Given the description of an element on the screen output the (x, y) to click on. 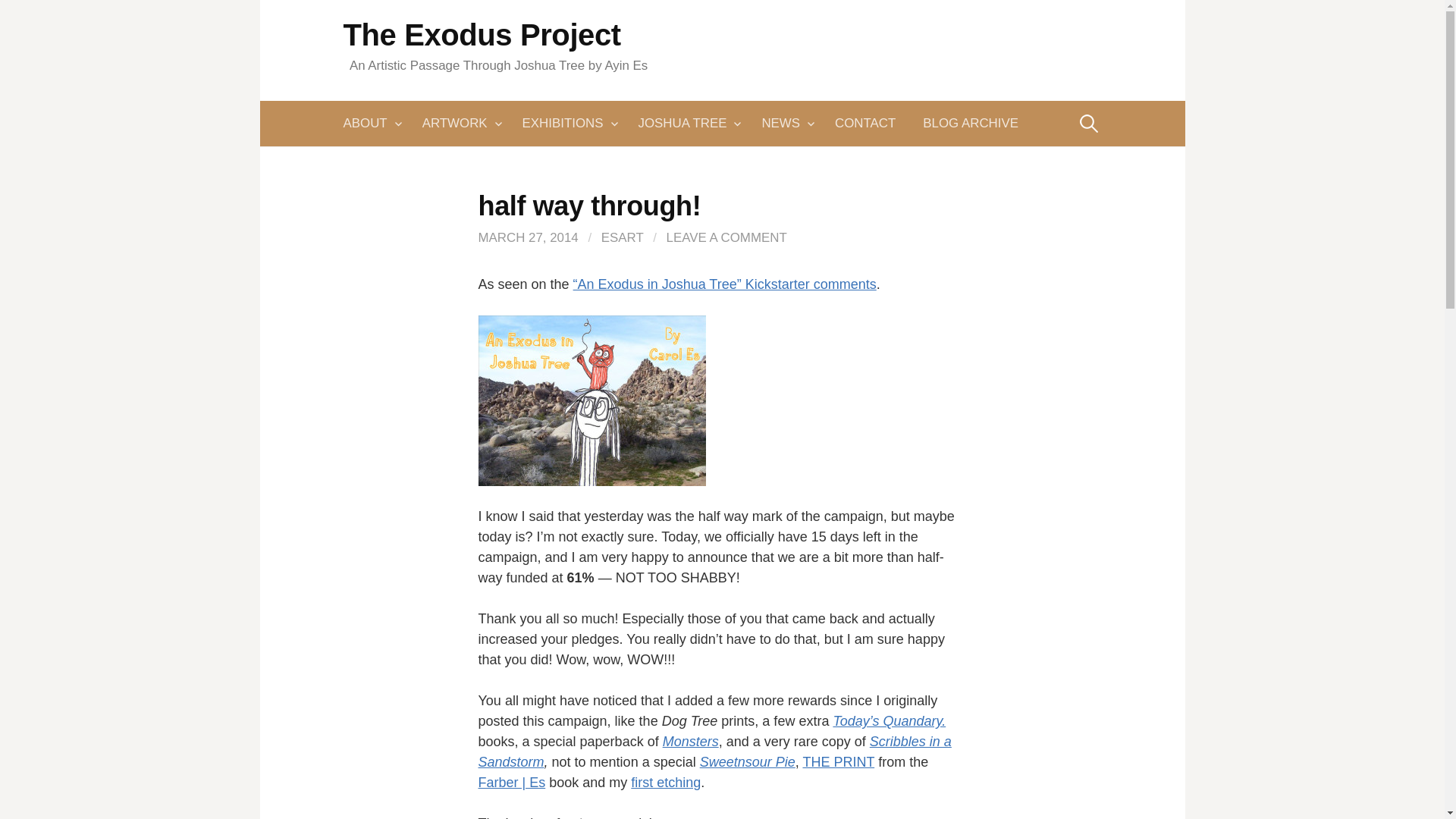
ABOUT (374, 123)
CONTACT (864, 123)
Monsters (690, 741)
The Exodus Project (481, 34)
ESART (622, 237)
NEWS (784, 123)
LEAVE A COMMENT (726, 237)
first etching (665, 782)
THE PRINT (838, 761)
JOSHUA TREE (686, 123)
MARCH 27, 2014 (527, 237)
EXHIBITIONS (566, 123)
Search (16, 16)
BLOG ARCHIVE (970, 123)
ARTWORK (458, 123)
